Given the description of an element on the screen output the (x, y) to click on. 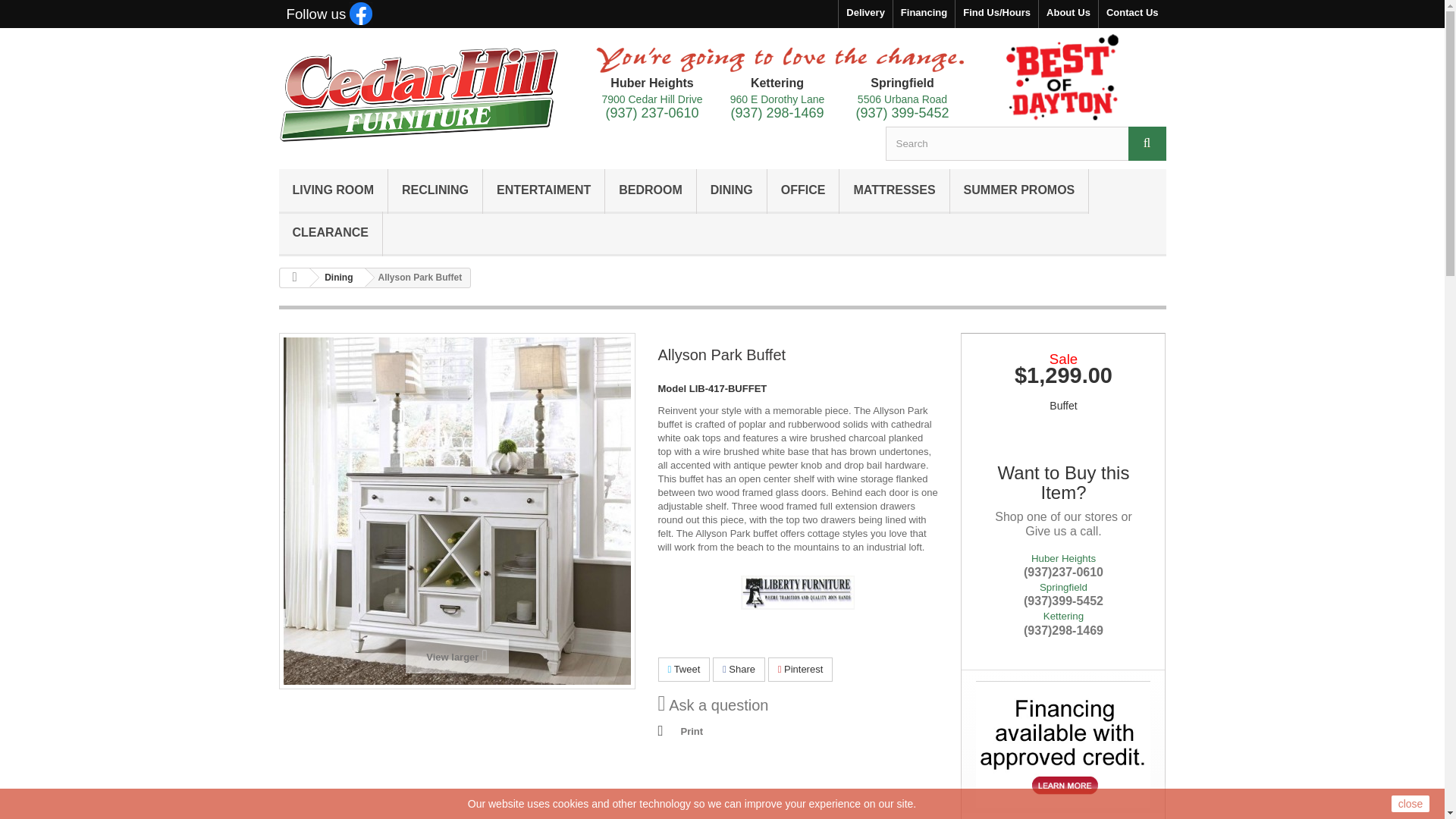
Store Hours (996, 13)
About Us (1068, 13)
Follow us (329, 15)
960 E Dorothy Lane (777, 99)
Contact Us (1132, 13)
Cedar Hill Furniture (419, 94)
MATTRESSES (894, 190)
Huber Heights (651, 82)
RECLINING (434, 190)
LIVING ROOM (333, 190)
